Given the description of an element on the screen output the (x, y) to click on. 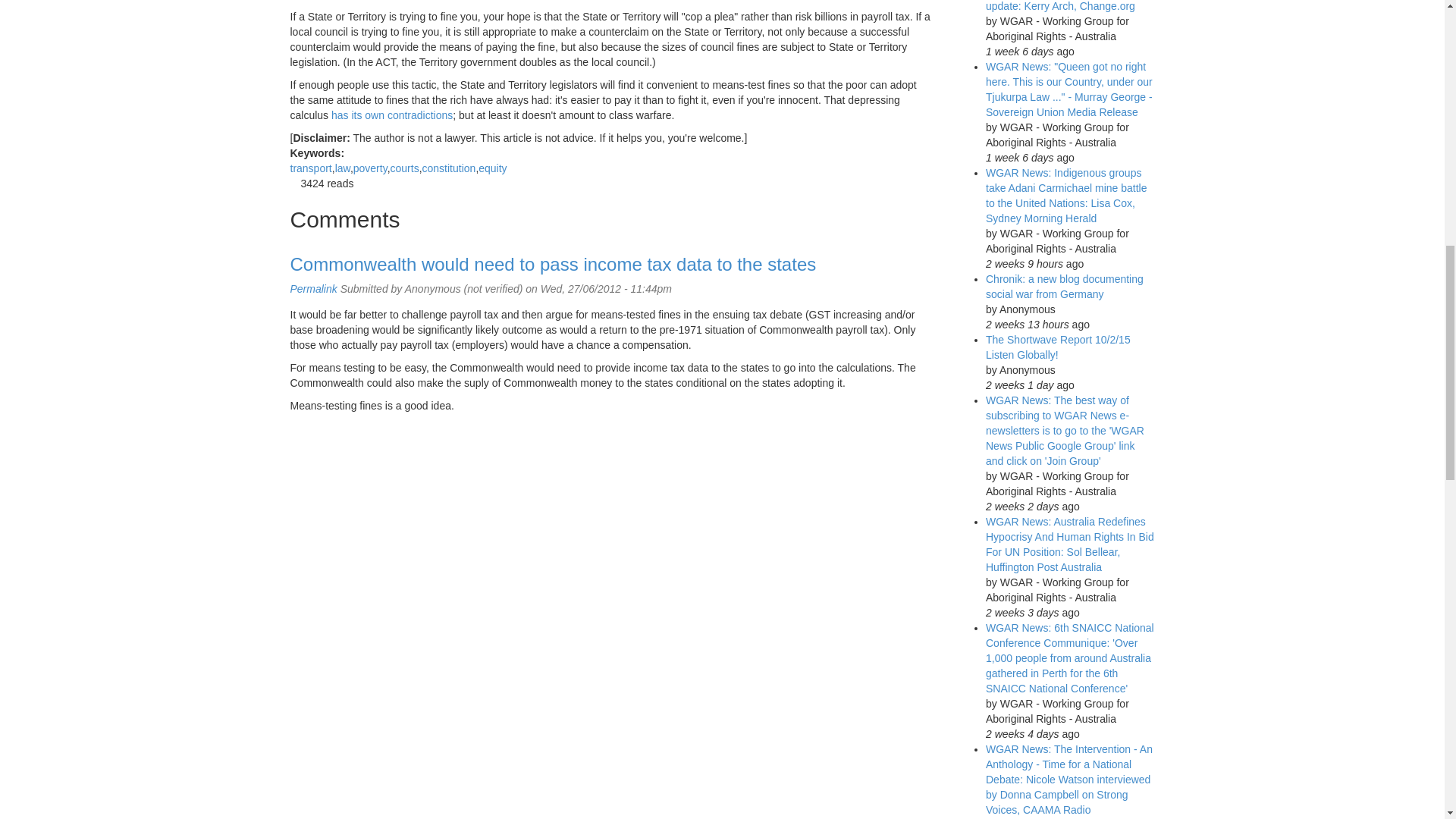
has its own contradictions (391, 114)
Permalink (312, 288)
courts (404, 168)
equity (492, 168)
Chronik: a new blog documenting social war from Germany (1063, 286)
constitution (449, 168)
law (342, 168)
poverty (370, 168)
transport (310, 168)
